Given the description of an element on the screen output the (x, y) to click on. 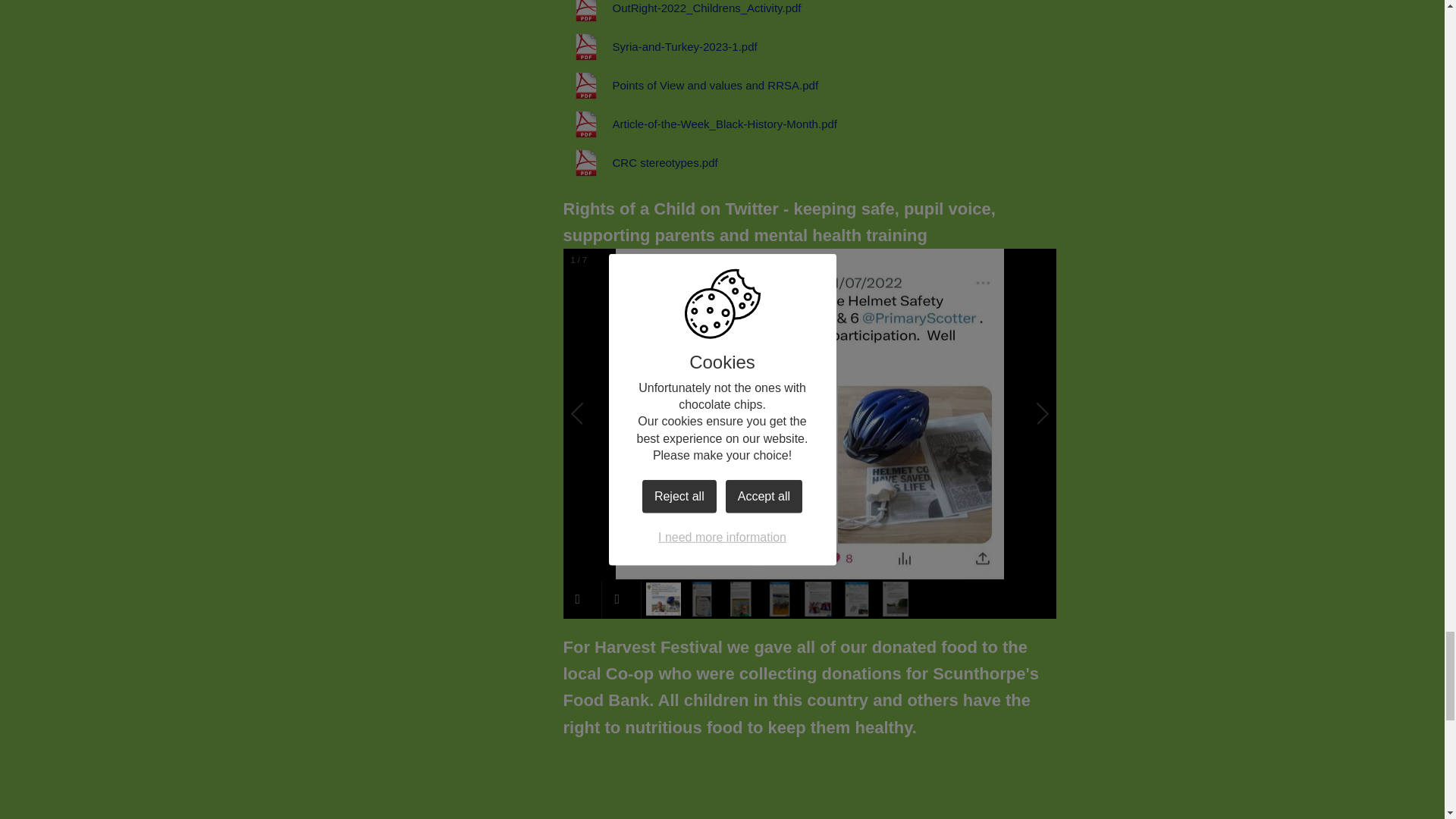
View large version of image (682, 780)
CRC stereotypes.pdf (639, 162)
Points of View and values and RRSA.pdf (690, 85)
Syria-and-Turkey-2023-1.pdf (659, 46)
View large version of image (935, 780)
